Given the description of an element on the screen output the (x, y) to click on. 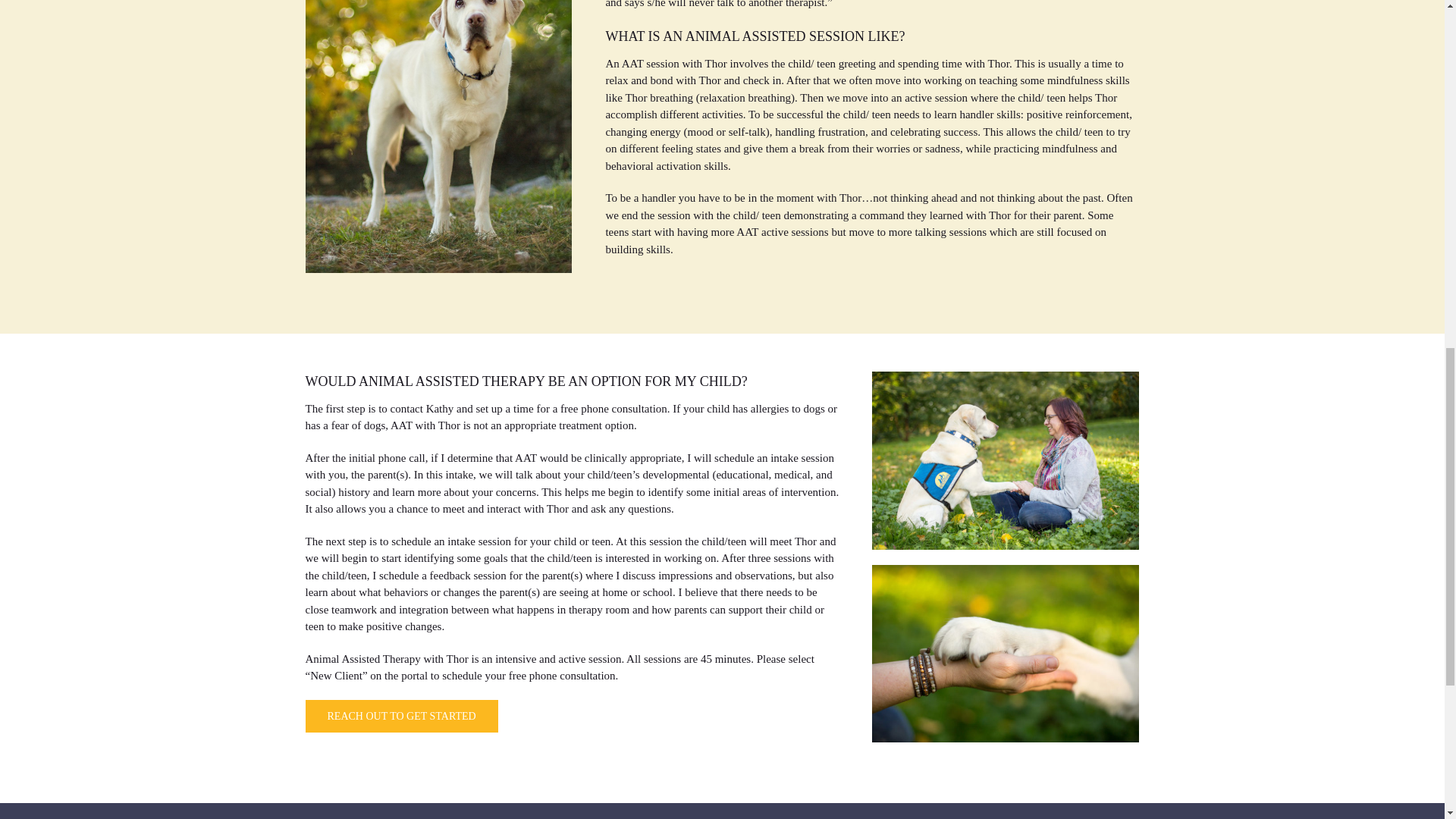
REACH OUT TO GET STARTED (400, 716)
KATHY CLAIR-HAYES (400, 716)
